Given the description of an element on the screen output the (x, y) to click on. 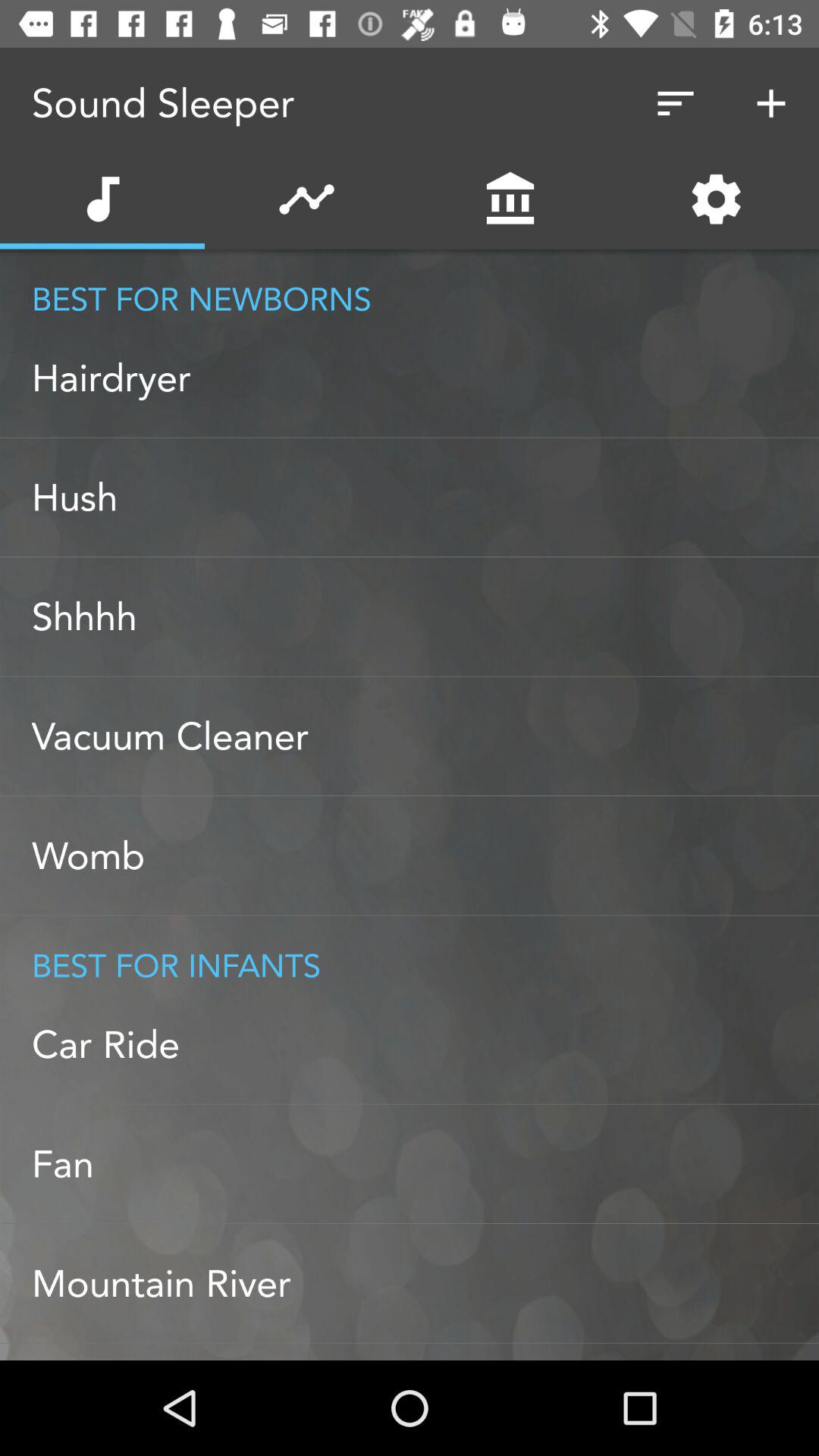
turn off the vacuum cleaner icon (425, 736)
